Given the description of an element on the screen output the (x, y) to click on. 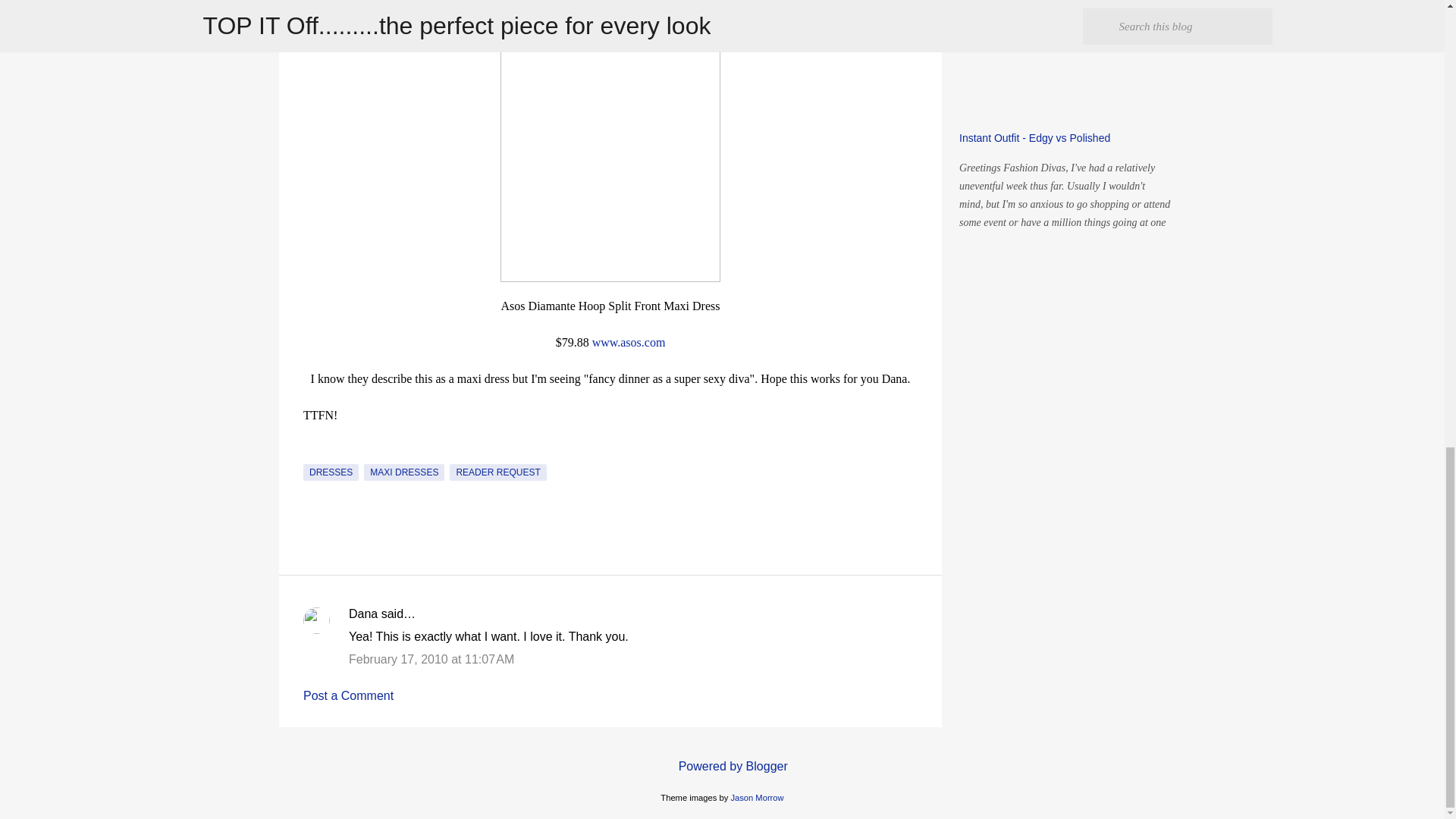
DRESSES (330, 472)
www.asos.com (628, 341)
MAXI DRESSES (404, 472)
Email Post (311, 454)
READER REQUEST (497, 472)
Post a Comment (347, 695)
Jason Morrow (756, 797)
Instant Outfit - Edgy vs Polished (1034, 137)
comment permalink (431, 658)
Powered by Blogger (721, 766)
